Given the description of an element on the screen output the (x, y) to click on. 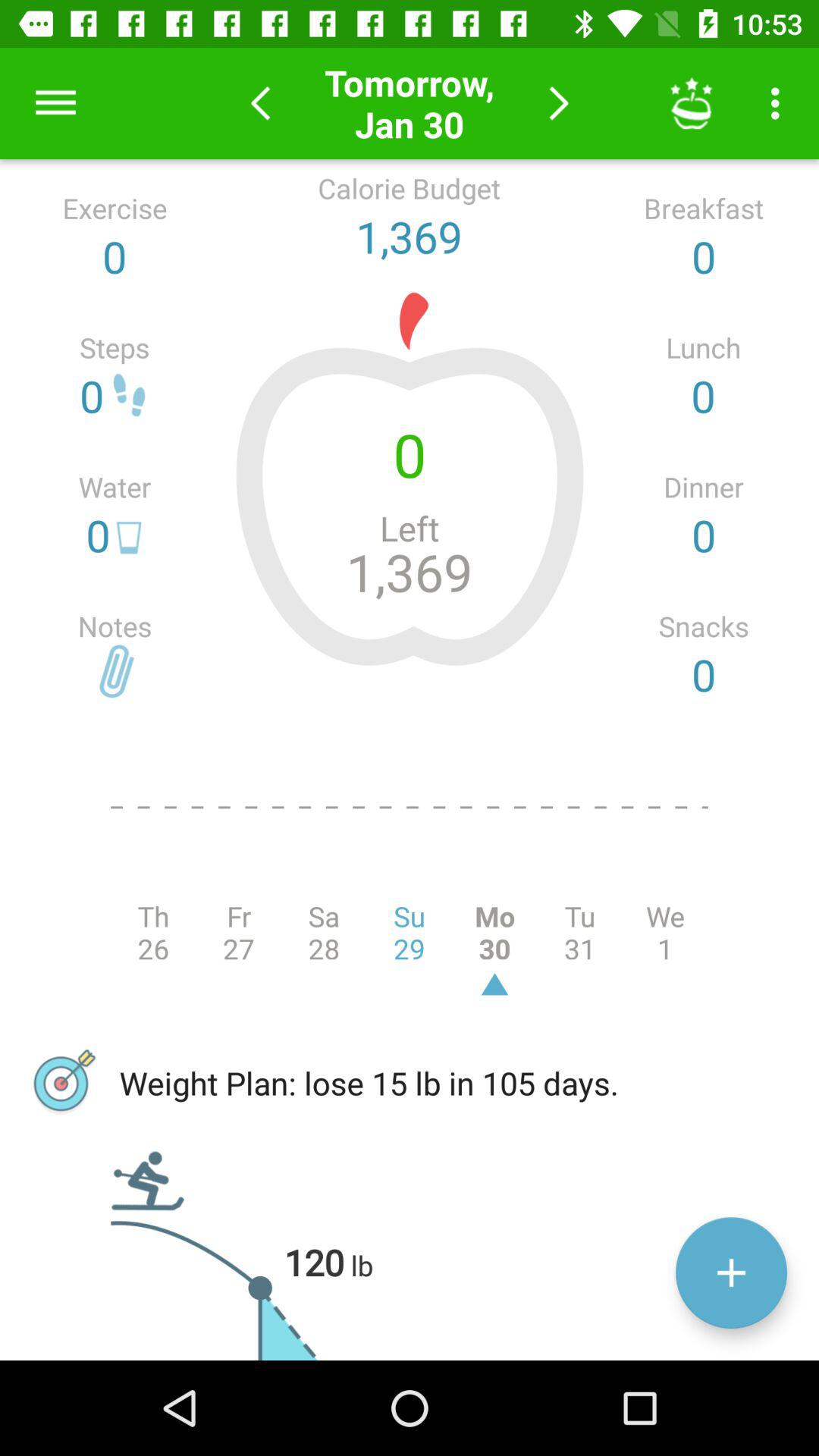
go back (260, 103)
